Given the description of an element on the screen output the (x, y) to click on. 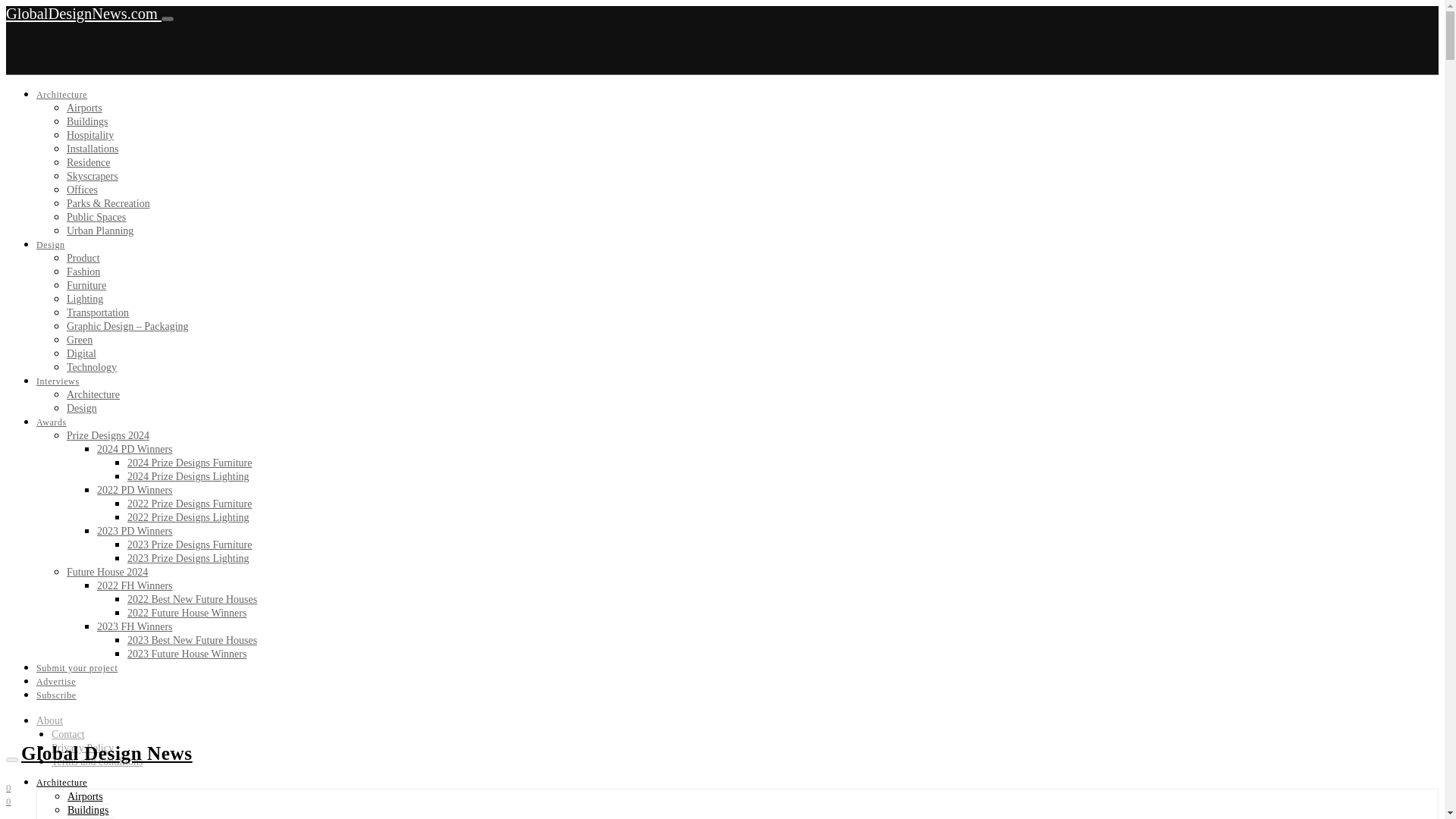
Design (50, 244)
Interviews (58, 380)
2022 PD Winners (135, 490)
Public Spaces (95, 216)
2022 Prize Designs Lighting (188, 517)
2024 Prize Designs Furniture (189, 462)
Urban Planning (99, 230)
2023 Prize Designs Furniture (189, 544)
Future House 2024 (107, 572)
Buildings (86, 121)
